Given the description of an element on the screen output the (x, y) to click on. 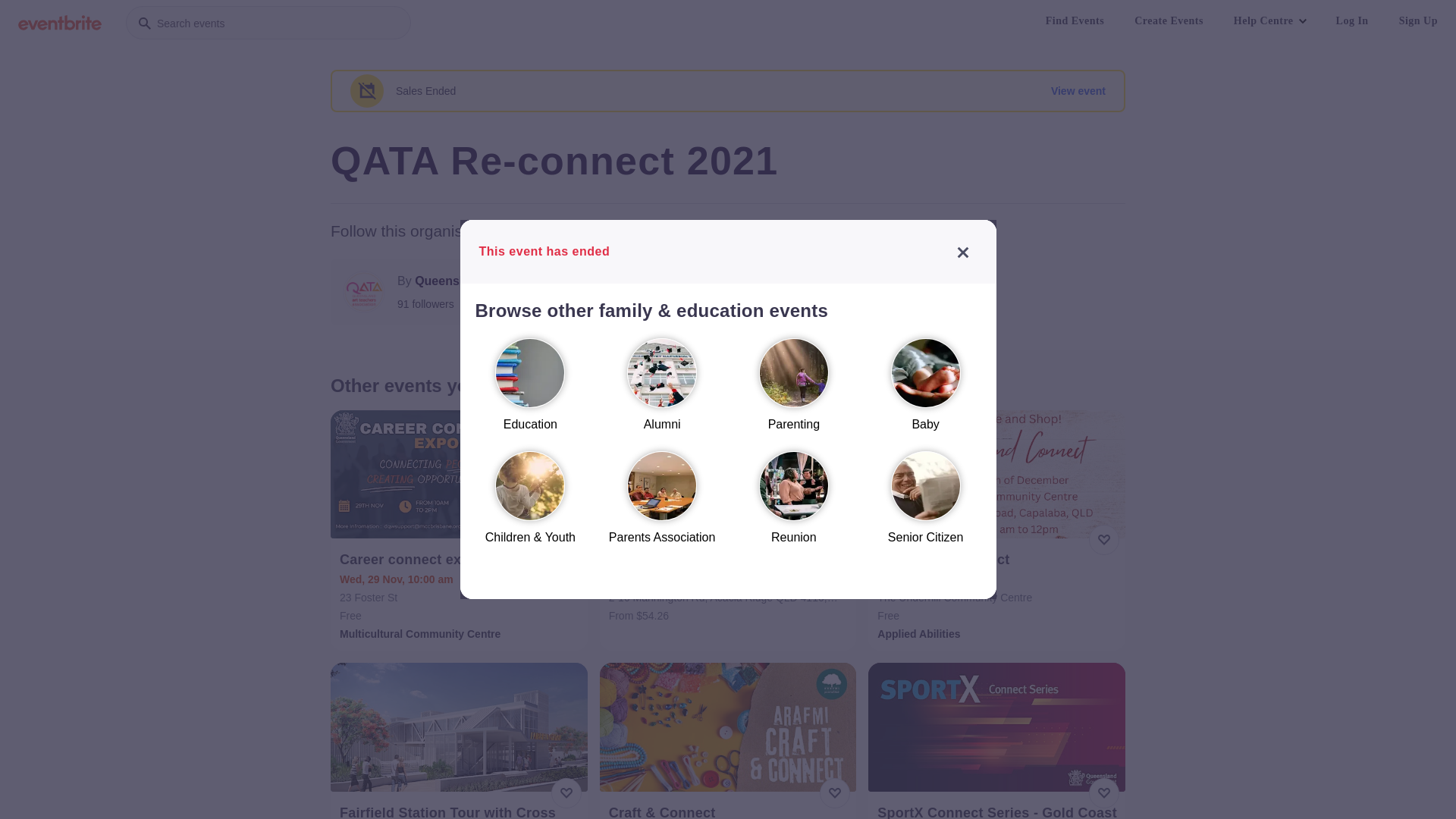
Log In Element type: text (1352, 21)
Baby Element type: text (925, 391)
Eventbrite Element type: hover (59, 22)
DINE & CONNECT Element type: text (729, 559)
Education Element type: text (530, 391)
Reunion Element type: text (793, 504)
Senior Citizen Element type: text (925, 504)
Career connect expo Element type: text (460, 559)
Parenting Element type: text (793, 391)
Follow Element type: text (685, 291)
Find Events Element type: text (1074, 21)
Cuppa and Connect Element type: text (998, 559)
Search events Element type: text (268, 22)
Parents Association Element type: text (661, 504)
Alumni Element type: text (661, 391)
Sign Up Element type: text (1417, 21)
View event Element type: text (1078, 90)
Create Events Element type: text (1168, 21)
Children & Youth Element type: text (530, 504)
